Given the description of an element on the screen output the (x, y) to click on. 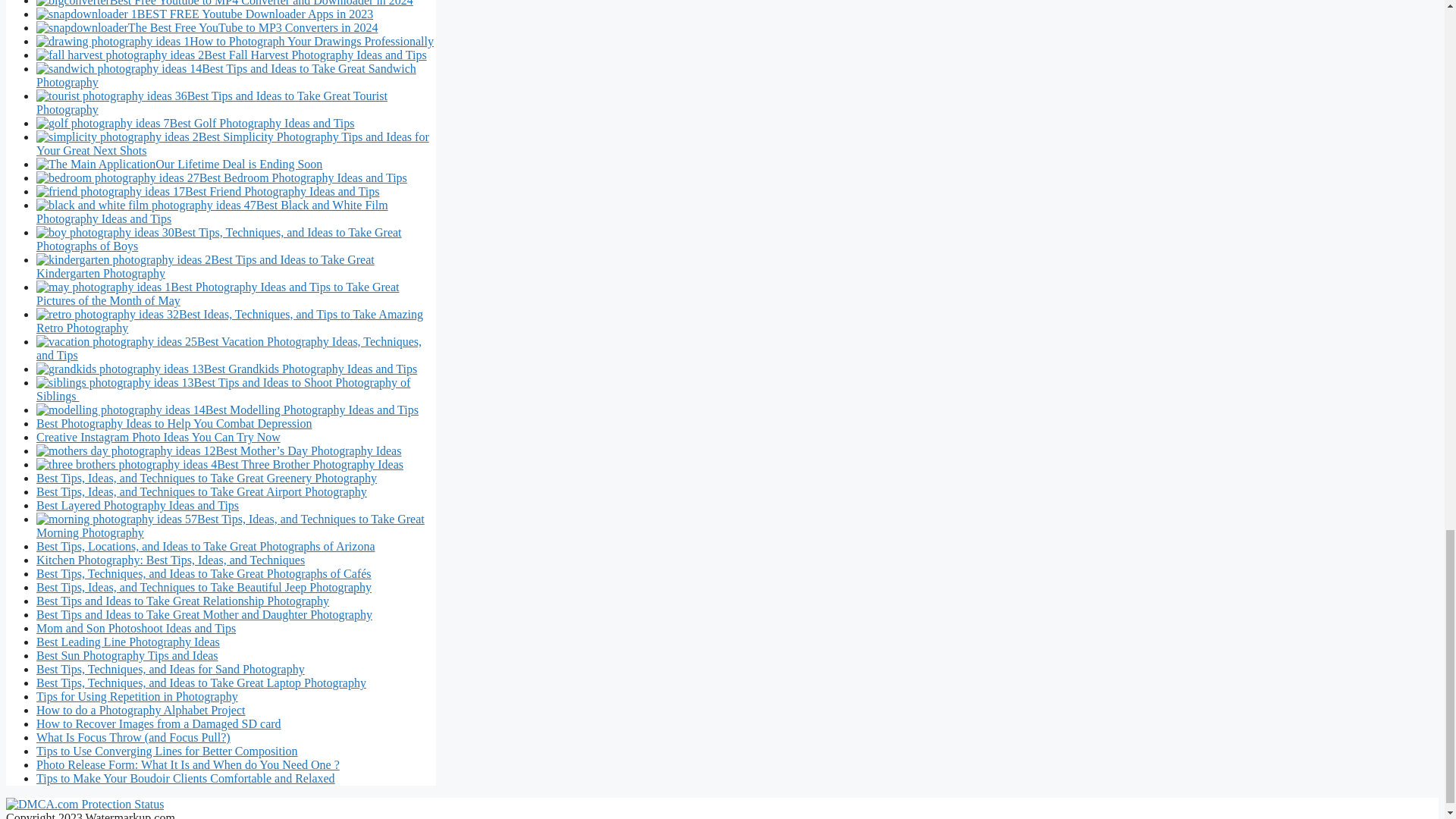
DMCA.com Protection Status (84, 803)
